Given the description of an element on the screen output the (x, y) to click on. 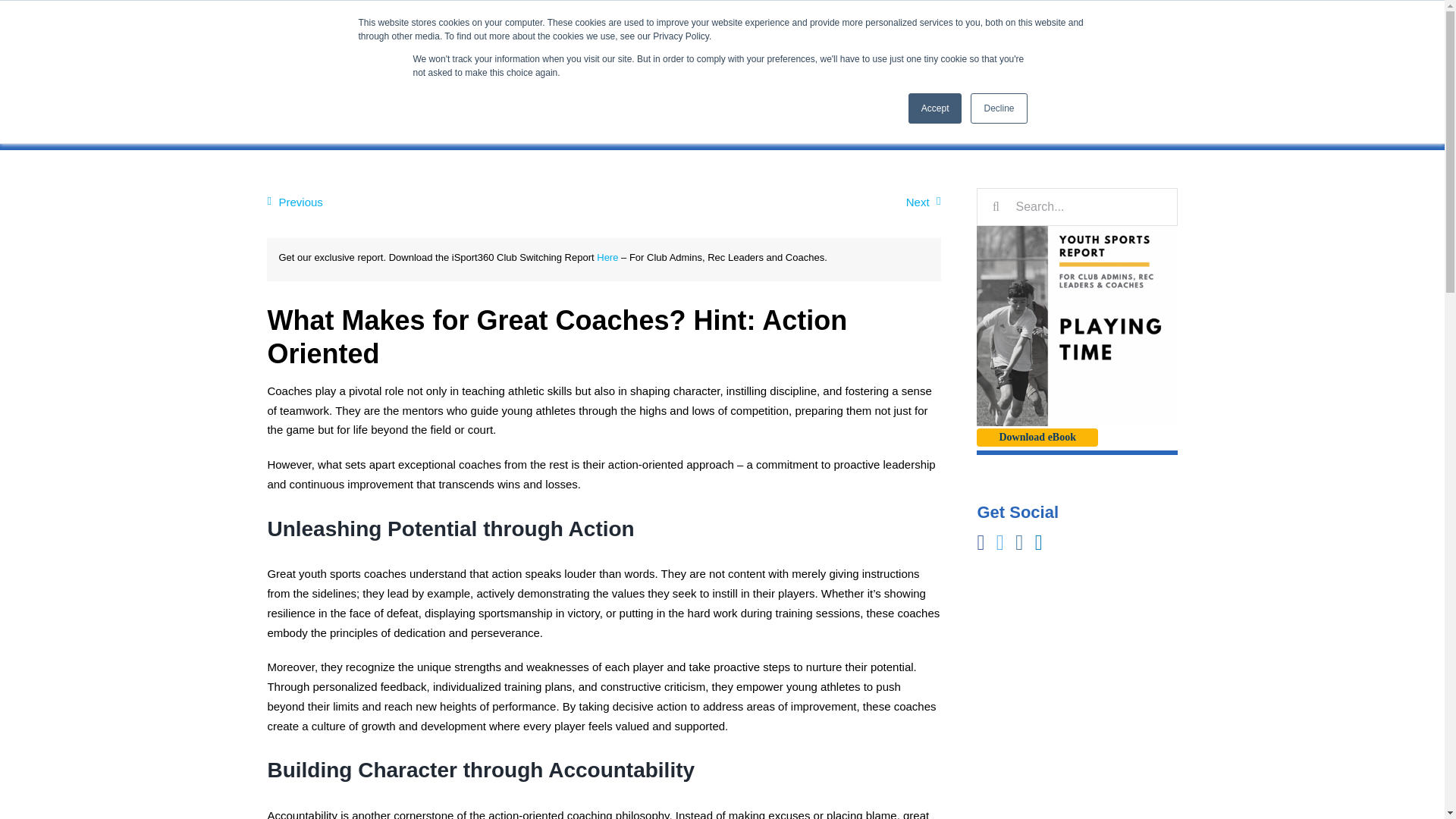
Decline (998, 108)
LOGIN (1136, 15)
WHO USES ISPORT360? (928, 74)
Accept (935, 108)
SIGN UP (1052, 15)
